Given the description of an element on the screen output the (x, y) to click on. 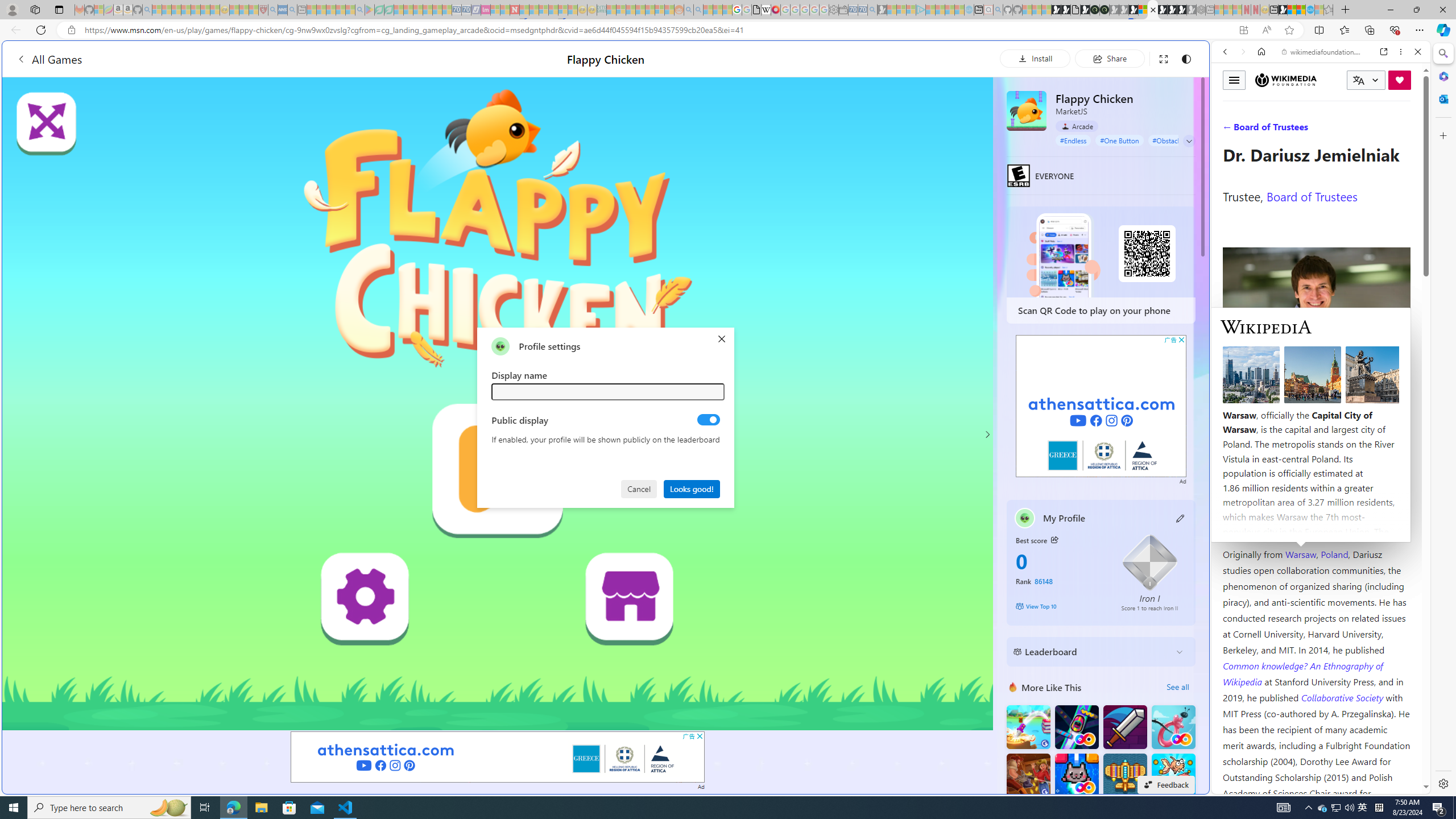
google - Search - Sleeping (359, 9)
IMAGES (1262, 130)
Tab actions menu (58, 9)
Split screen (1318, 29)
Play Zoo Boom in your browser | Games from Microsoft Start (1065, 9)
Play Free Online Games | Games from Microsoft Start (1162, 9)
Class: b_serphb (1404, 130)
